Given the description of an element on the screen output the (x, y) to click on. 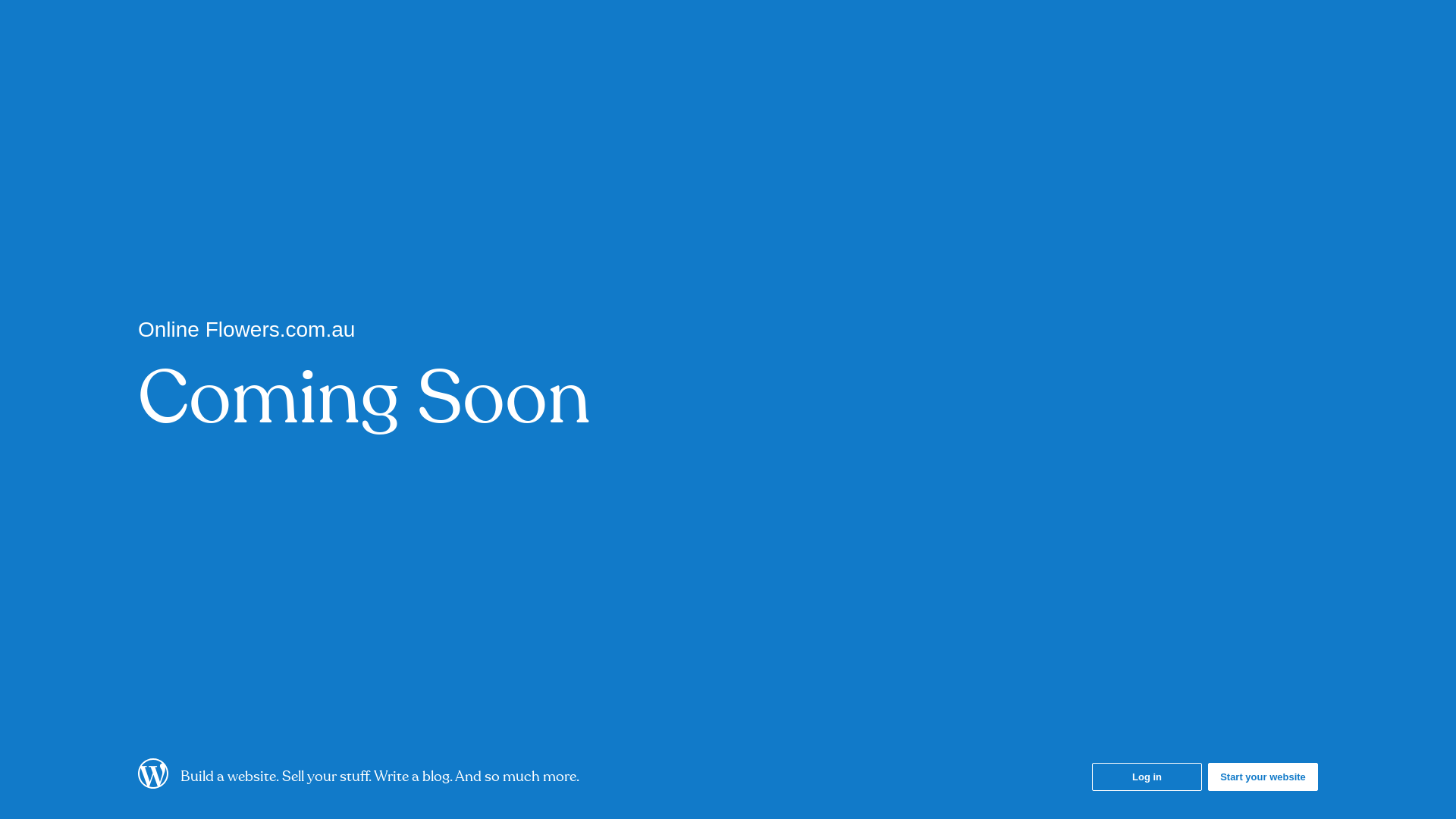
Log in Element type: text (1146, 776)
Start your website Element type: text (1262, 776)
WordPress.com Element type: text (153, 784)
